Given the description of an element on the screen output the (x, y) to click on. 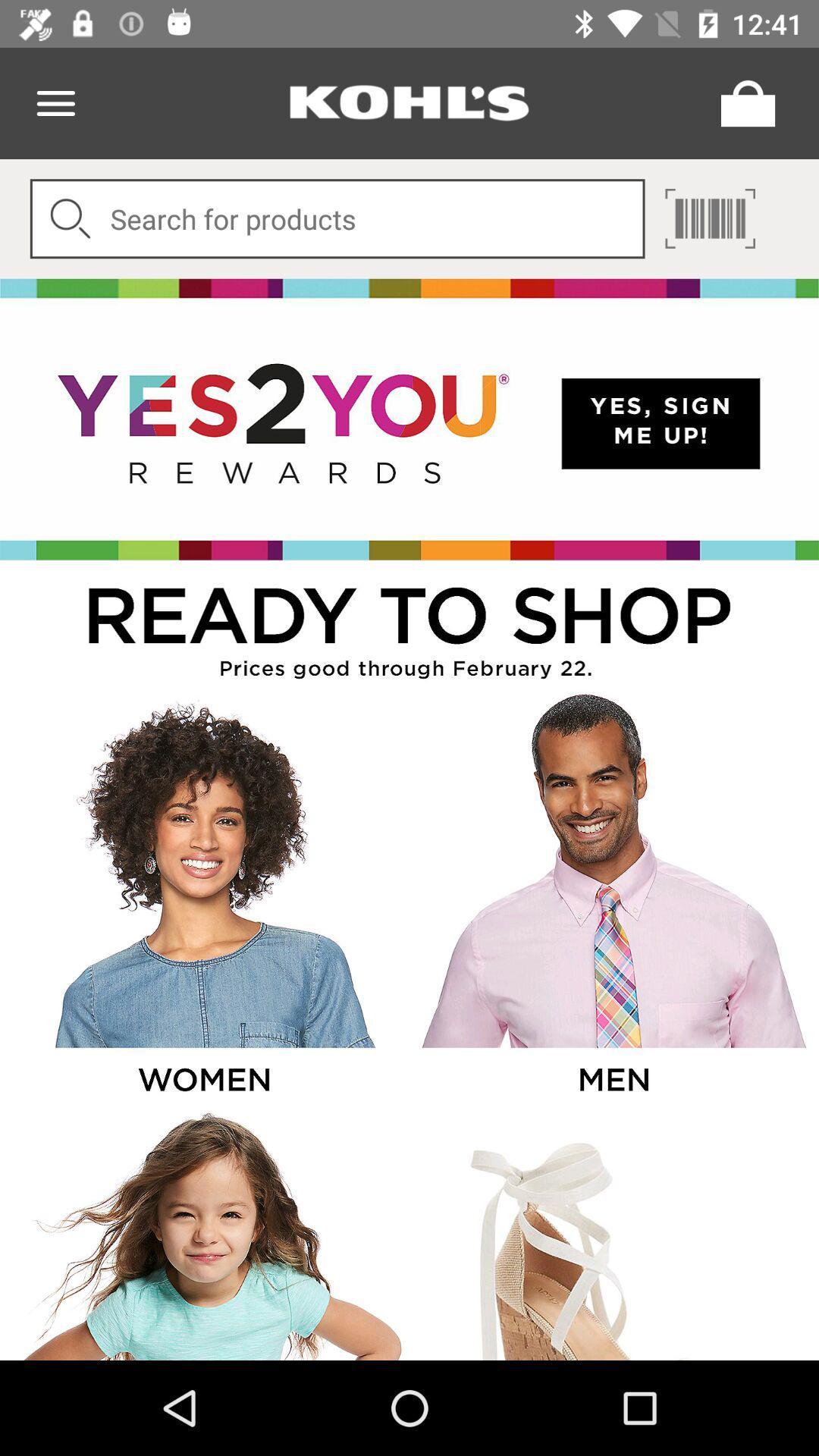
search box (337, 218)
